Given the description of an element on the screen output the (x, y) to click on. 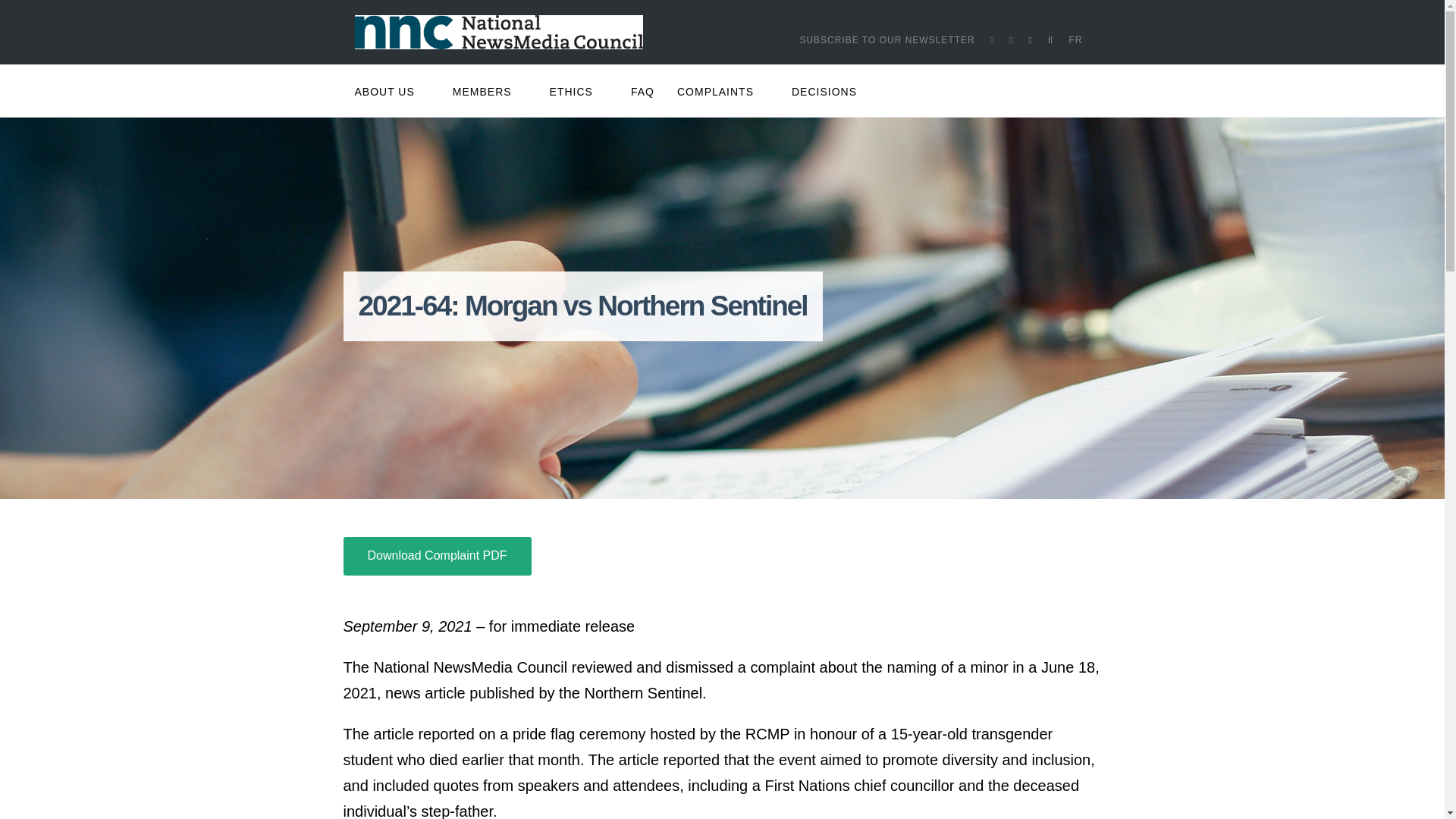
POLICIES AND GOVERNANCE (393, 194)
STANDARDS (575, 160)
SUBSCRIBE TO OUR NEWSLETTER (886, 40)
MEDIA ETHICS (575, 125)
CURRENT ISSUES (393, 262)
COMPLAINTS (722, 91)
Download Complaint PDF (436, 556)
ABOUT US (398, 91)
PARTNERSHIPS (485, 228)
HOW TO FILE A COMPLAINT WITH US (719, 160)
